Given the description of an element on the screen output the (x, y) to click on. 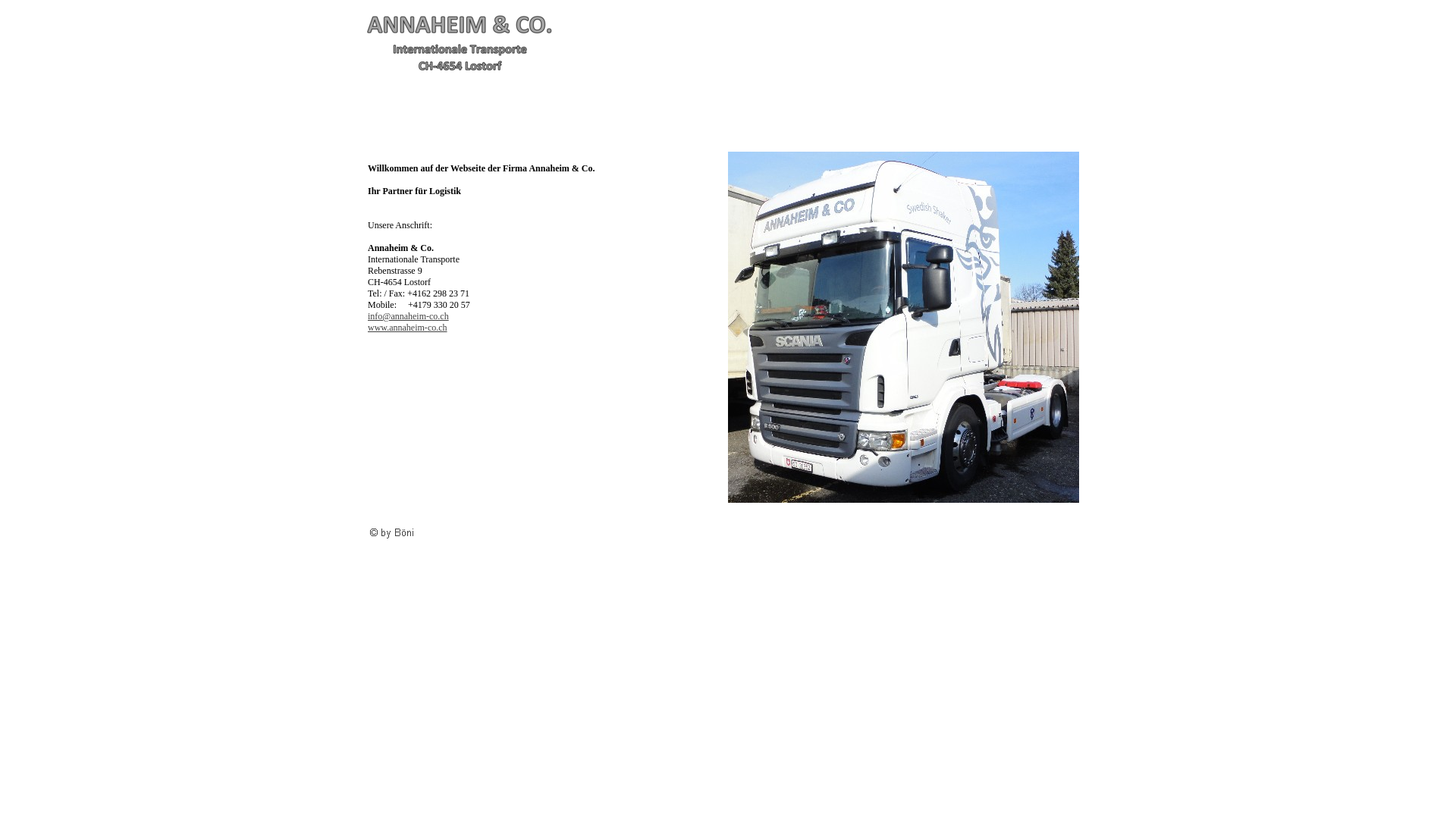
info@annaheim-co.ch Element type: text (407, 315)
www.annaheim-co.ch Element type: text (407, 327)
